Given the description of an element on the screen output the (x, y) to click on. 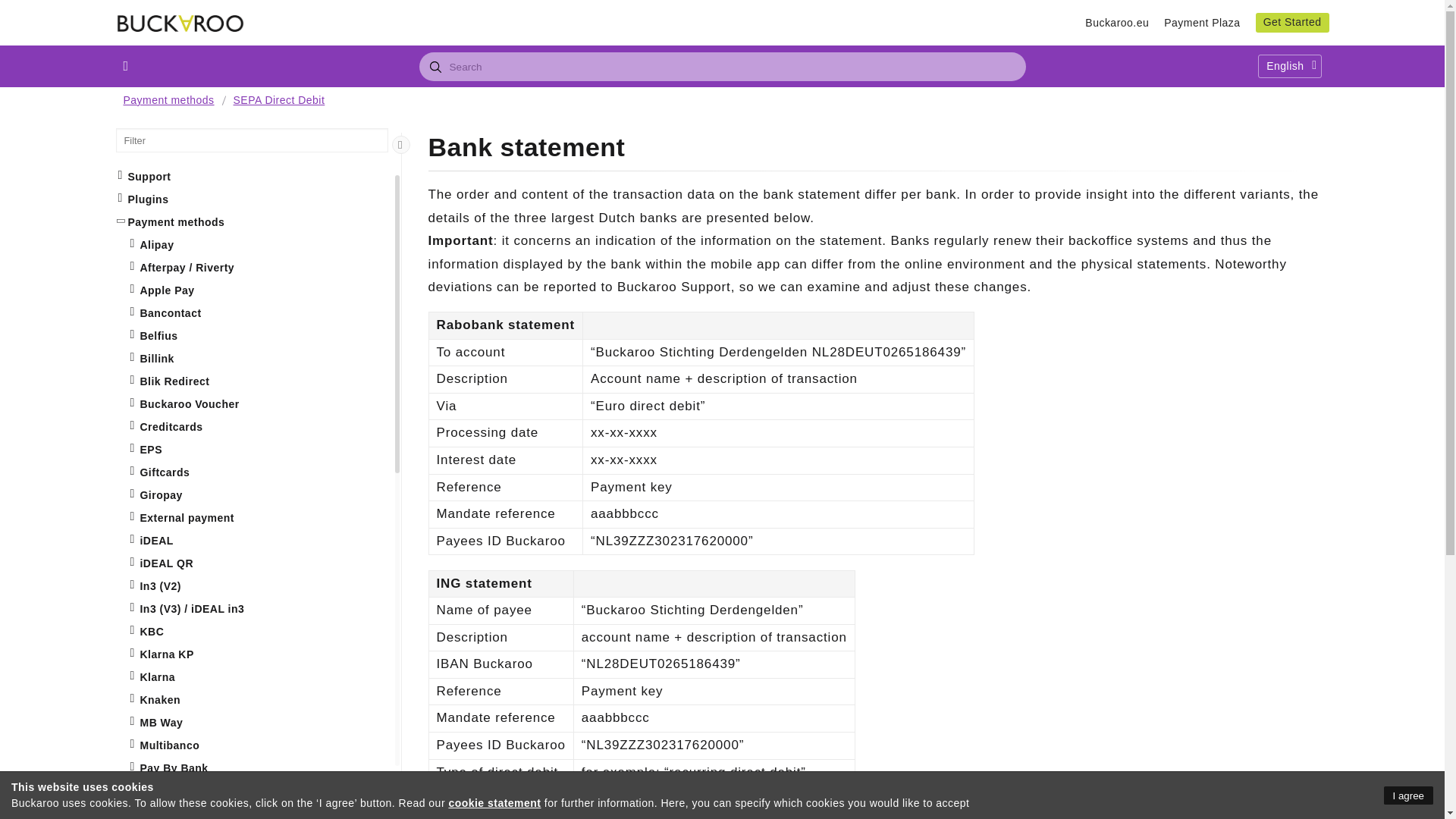
SEPA Direct Debit (280, 100)
Support (253, 176)
Get Started (1292, 22)
Buckaroo.eu (1116, 23)
Payment Plaza (1201, 23)
Payment methods (170, 100)
Payment methods (168, 100)
SEPA Direct Debit (278, 100)
